Given the description of an element on the screen output the (x, y) to click on. 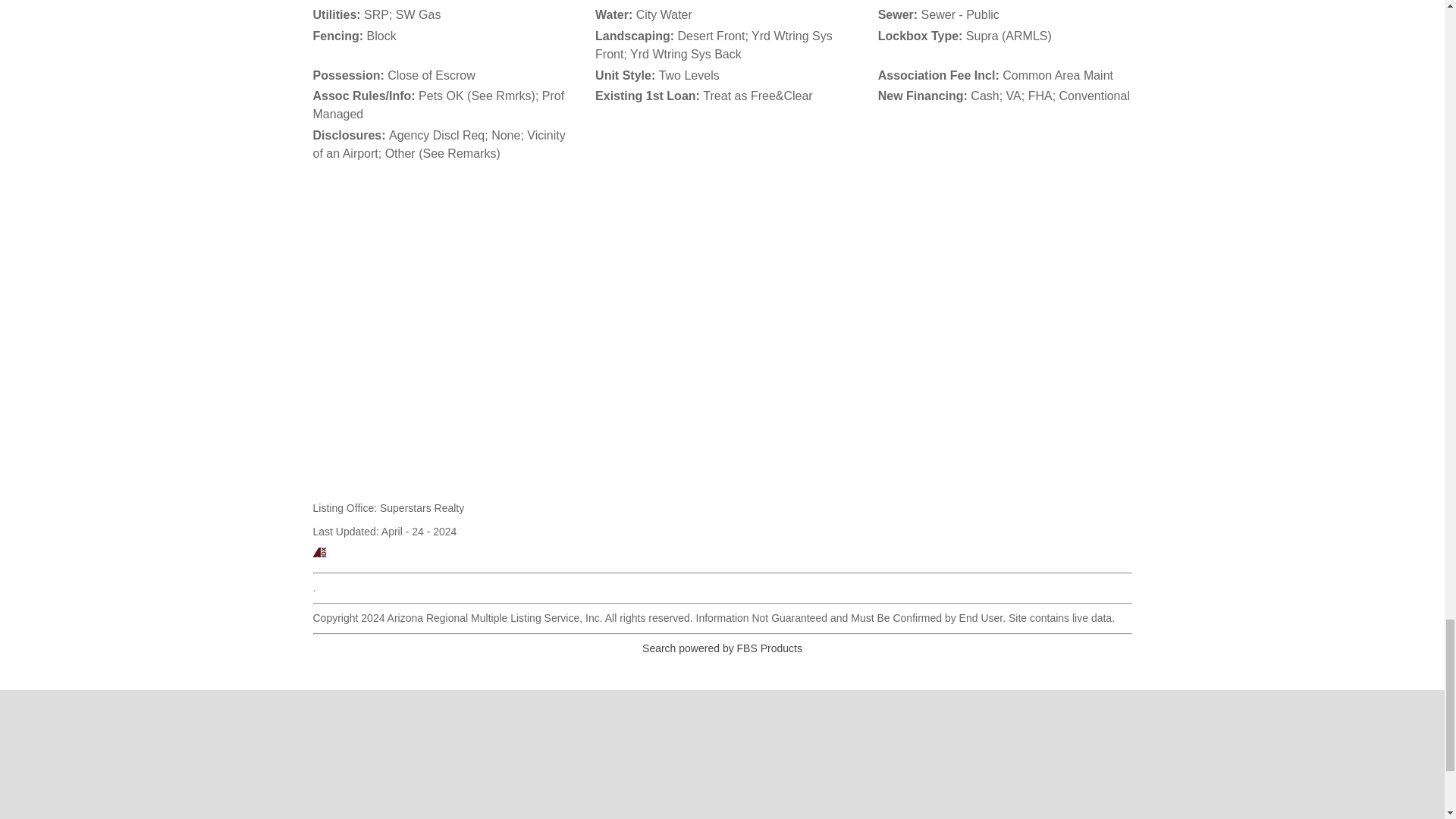
Search powered by FBS Products (722, 648)
